Given the description of an element on the screen output the (x, y) to click on. 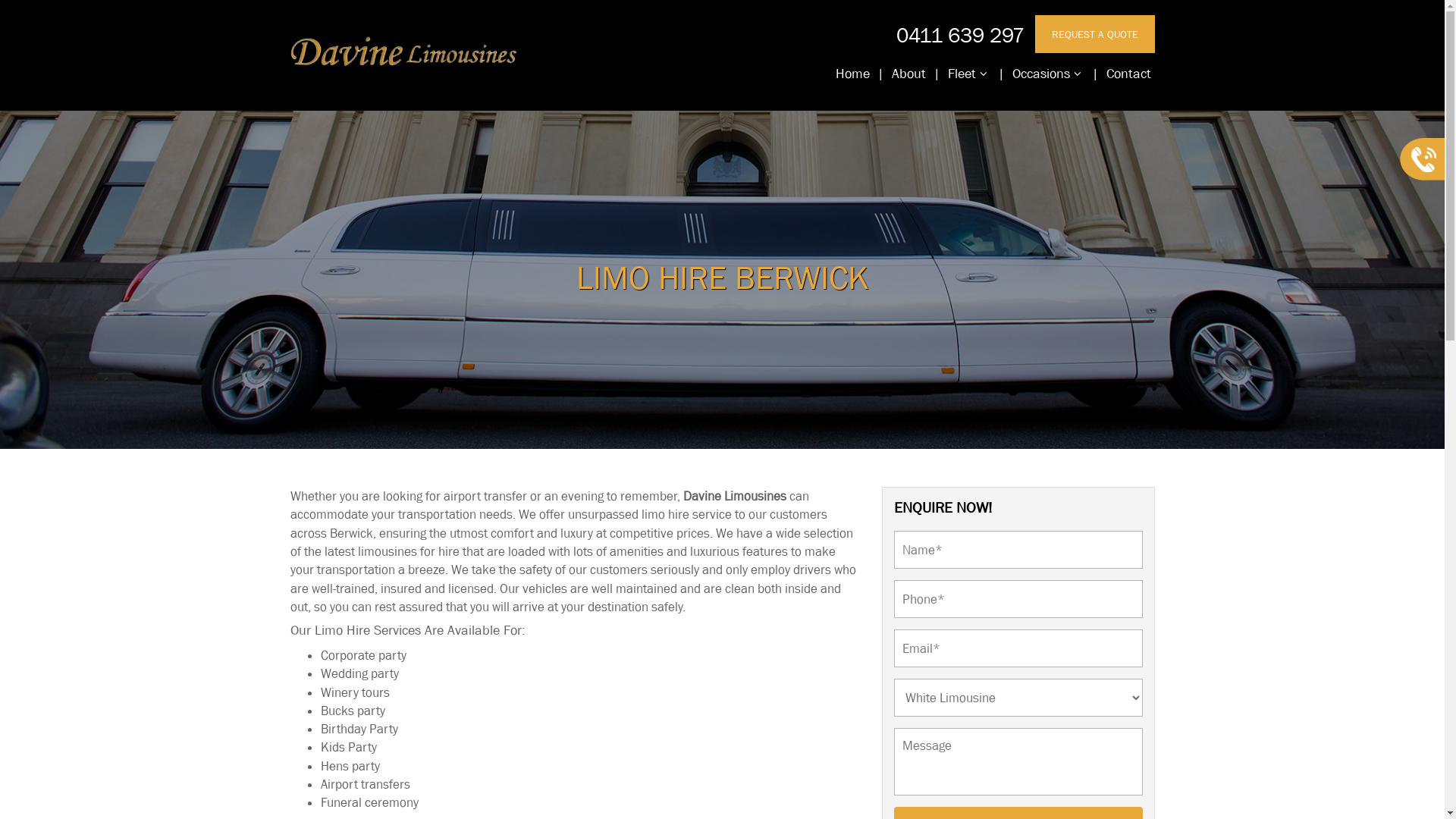
Home Element type: text (851, 74)
Davine Limousines Element type: text (733, 495)
Fleet Element type: text (966, 74)
REQUEST A QUOTE Element type: text (1094, 34)
0411 639 297 Element type: text (960, 34)
Occasions Element type: text (1046, 74)
Contact Element type: text (1128, 74)
About Element type: text (907, 74)
